Given the description of an element on the screen output the (x, y) to click on. 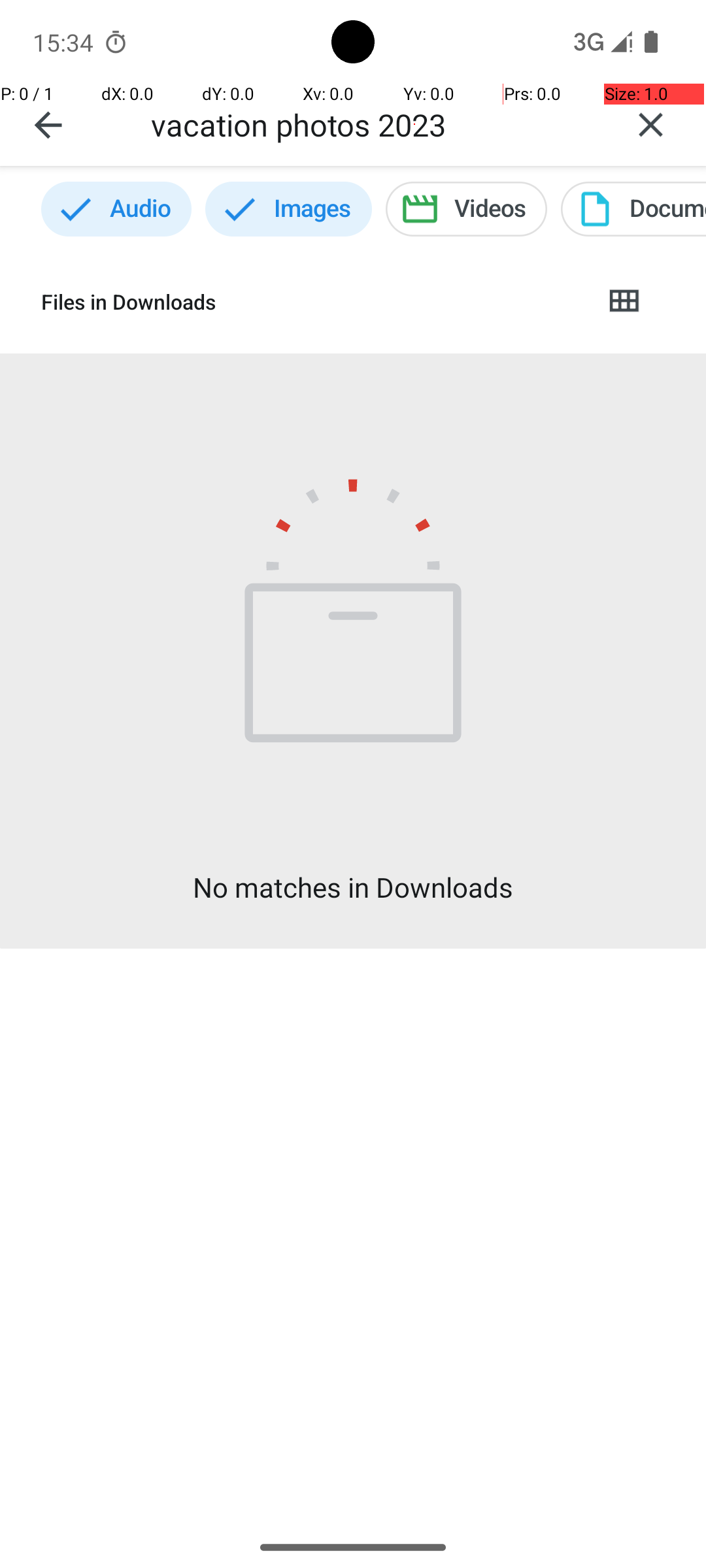
vacation photos 2023 Element type: android.widget.AutoCompleteTextView (373, 124)
